Given the description of an element on the screen output the (x, y) to click on. 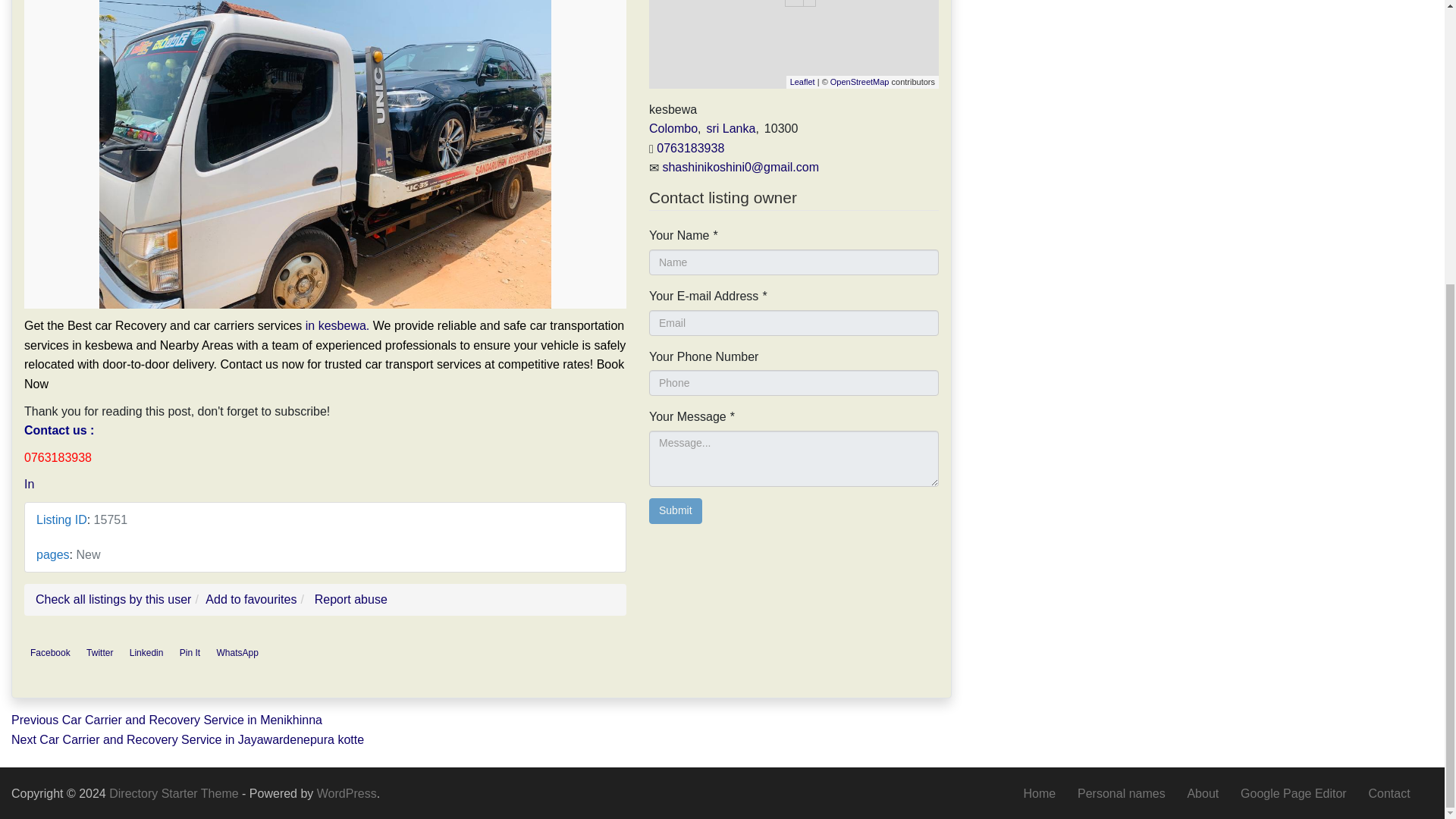
WordPress (347, 793)
0763183938 (689, 147)
OpenStreetMap (859, 81)
Colombo (673, 128)
Add to favourites (251, 599)
Facebook (50, 652)
Submit (675, 510)
in kesbewa. (337, 325)
Check all listings by this user (112, 599)
sri Lanka (730, 128)
Directory Starter (175, 793)
Leaflet (802, 81)
Report abuse (350, 599)
A JS library for interactive maps (802, 81)
